Given the description of an element on the screen output the (x, y) to click on. 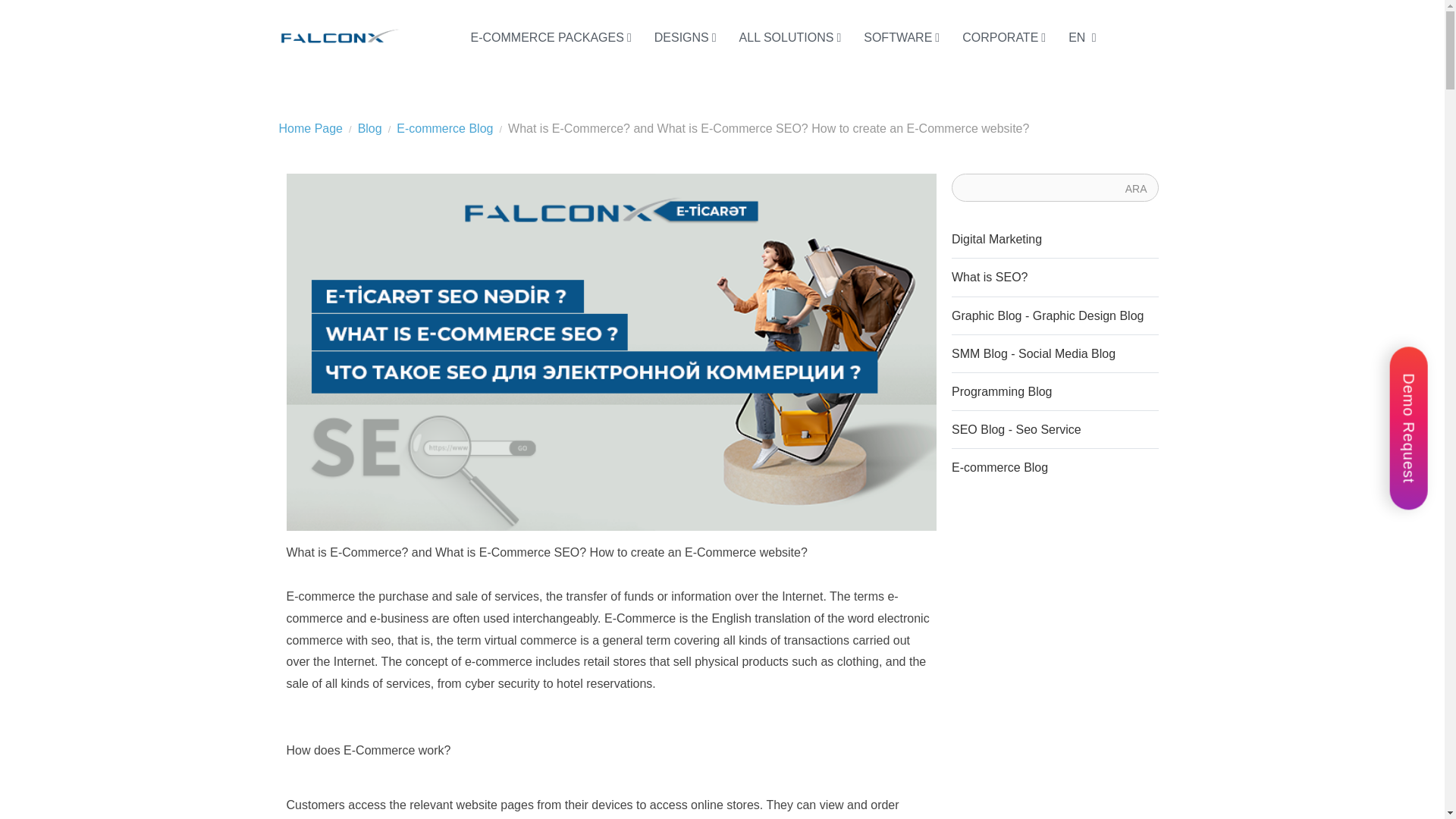
CORPORATE (1003, 38)
ALL SOLUTIONS (790, 38)
E-COMMERCE PACKAGES (551, 38)
Home Page (311, 128)
SEO Blog - Seo Service (1055, 429)
E-COMMERCE PACKAGES (551, 38)
Programming Blog (1055, 392)
Ara (1135, 188)
DESIGNS (685, 38)
SMM Blog - Social Media Blog (1055, 353)
